Given the description of an element on the screen output the (x, y) to click on. 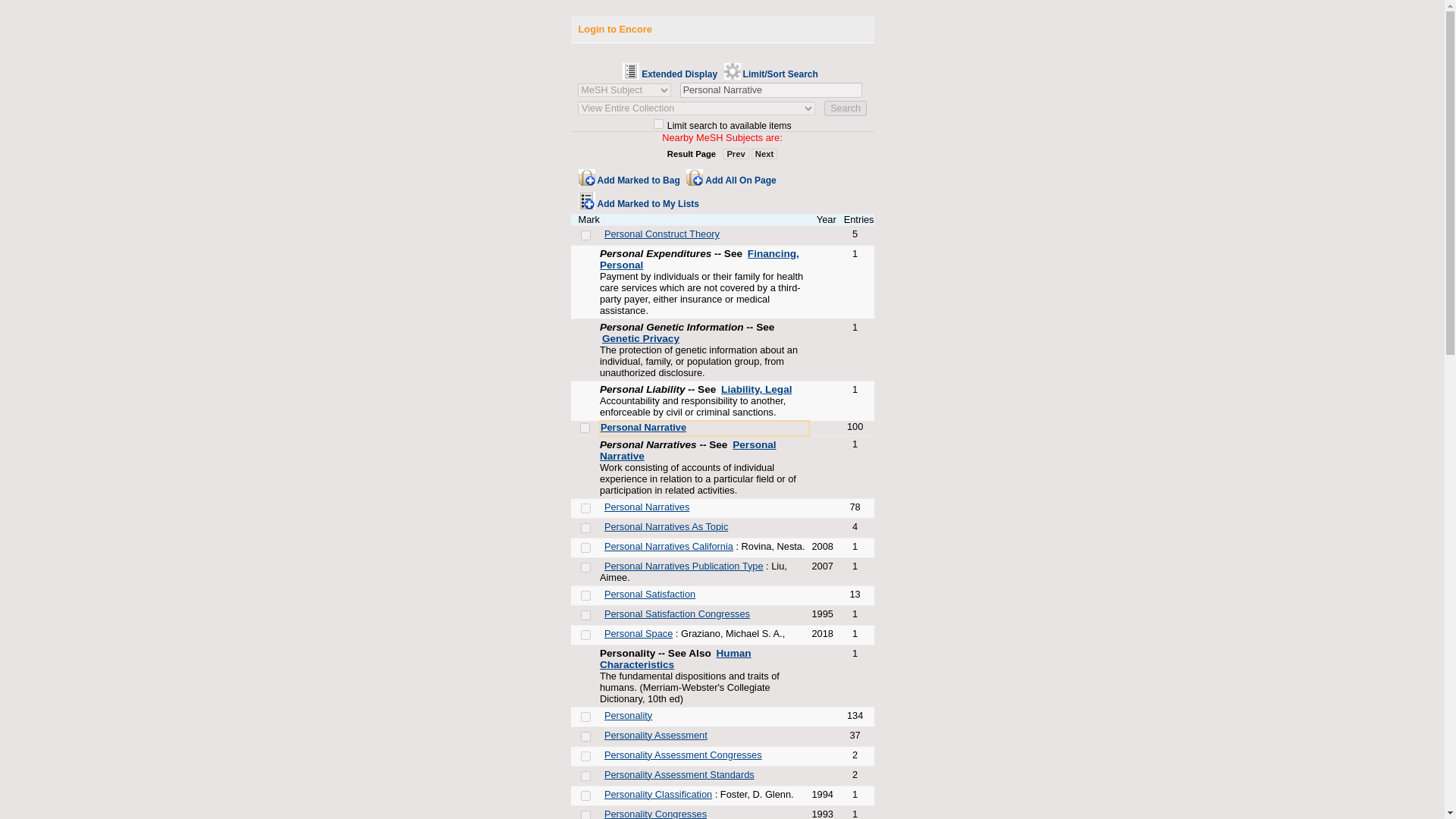
Personal Narrative (642, 427)
Financing, Personal (699, 259)
1 (658, 123)
Personal Narrative (770, 89)
Add Marked to My Lists (640, 199)
Search (845, 108)
Personal Satisfaction (649, 593)
Add Marked to Bag (630, 176)
Personal Space (638, 633)
Personal Narrative (687, 449)
Search (845, 108)
Genetic Privacy (640, 337)
Personal Narratives As Topic (666, 525)
Personal Construct Theory (661, 233)
Human Characteristics (675, 658)
